Given the description of an element on the screen output the (x, y) to click on. 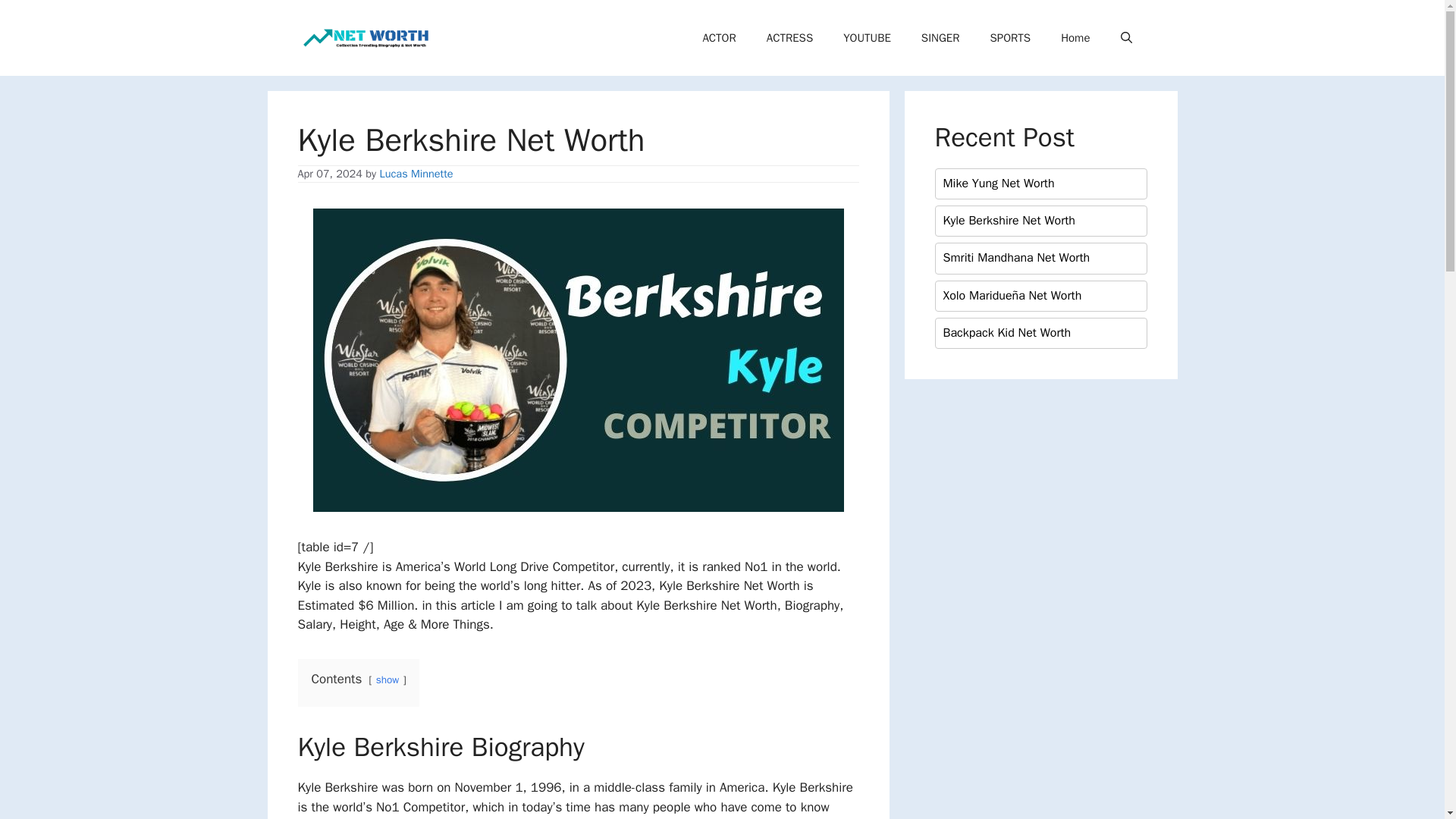
Home (1075, 37)
ACTRESS (789, 37)
Lucas Minnette (415, 173)
View all posts by Lucas Minnette (415, 173)
Mike Yung Net Worth (998, 183)
Kyle Berkshire Net Worth (1009, 220)
SPORTS (1009, 37)
YOUTUBE (866, 37)
Smriti Mandhana Net Worth (1016, 257)
ACTOR (719, 37)
